Given the description of an element on the screen output the (x, y) to click on. 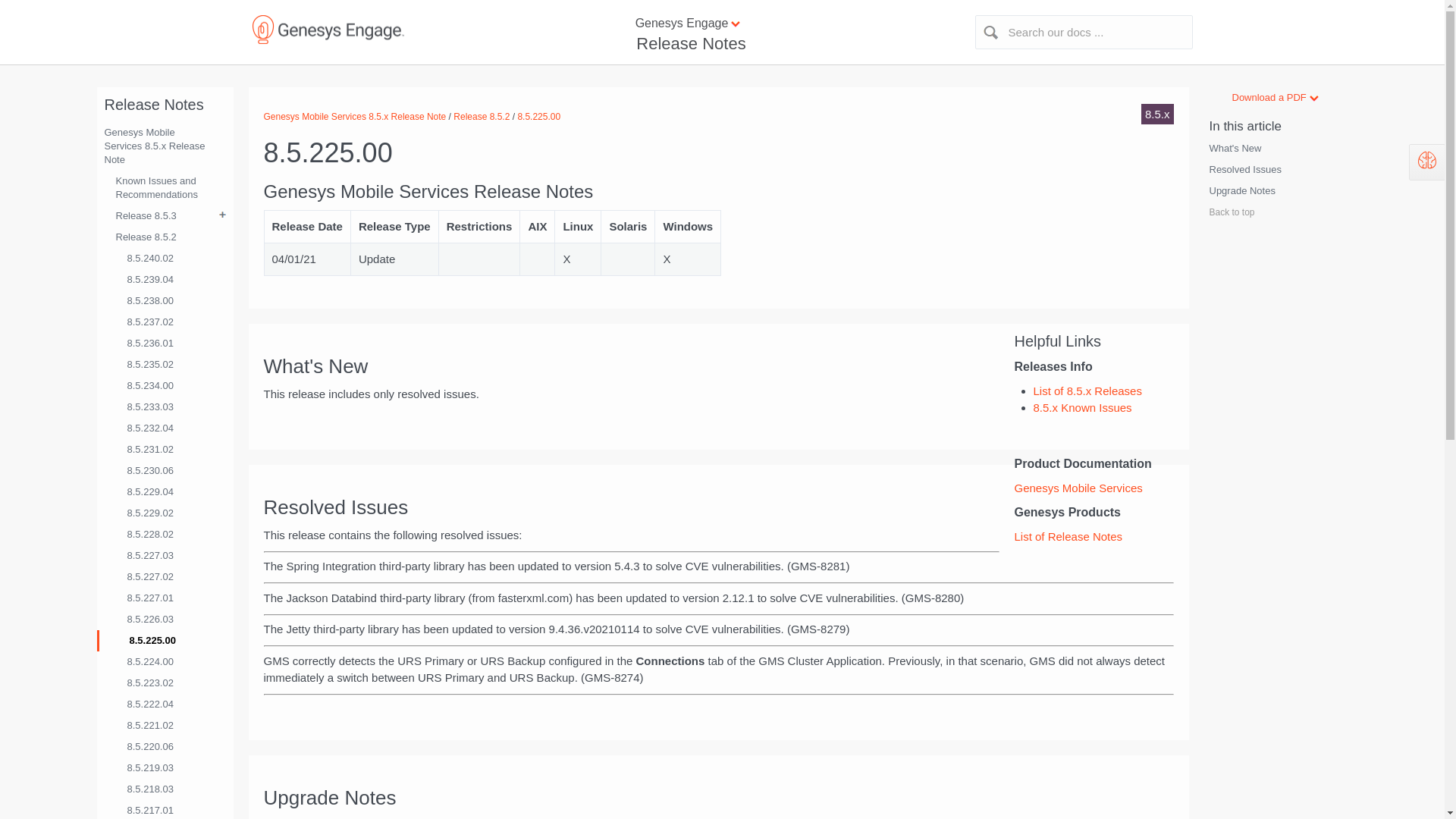
Resolved Issues (1268, 173)
In this article (1242, 125)
Resolved Issues (1242, 169)
Documentation:RN:gms85rn:gms85rn:8.5.x (1086, 390)
Upgrade Notes (1239, 191)
What's New (1268, 151)
Click to expand (721, 23)
What's New (1233, 148)
Release Notes (688, 43)
Back to top (1268, 219)
